Given the description of an element on the screen output the (x, y) to click on. 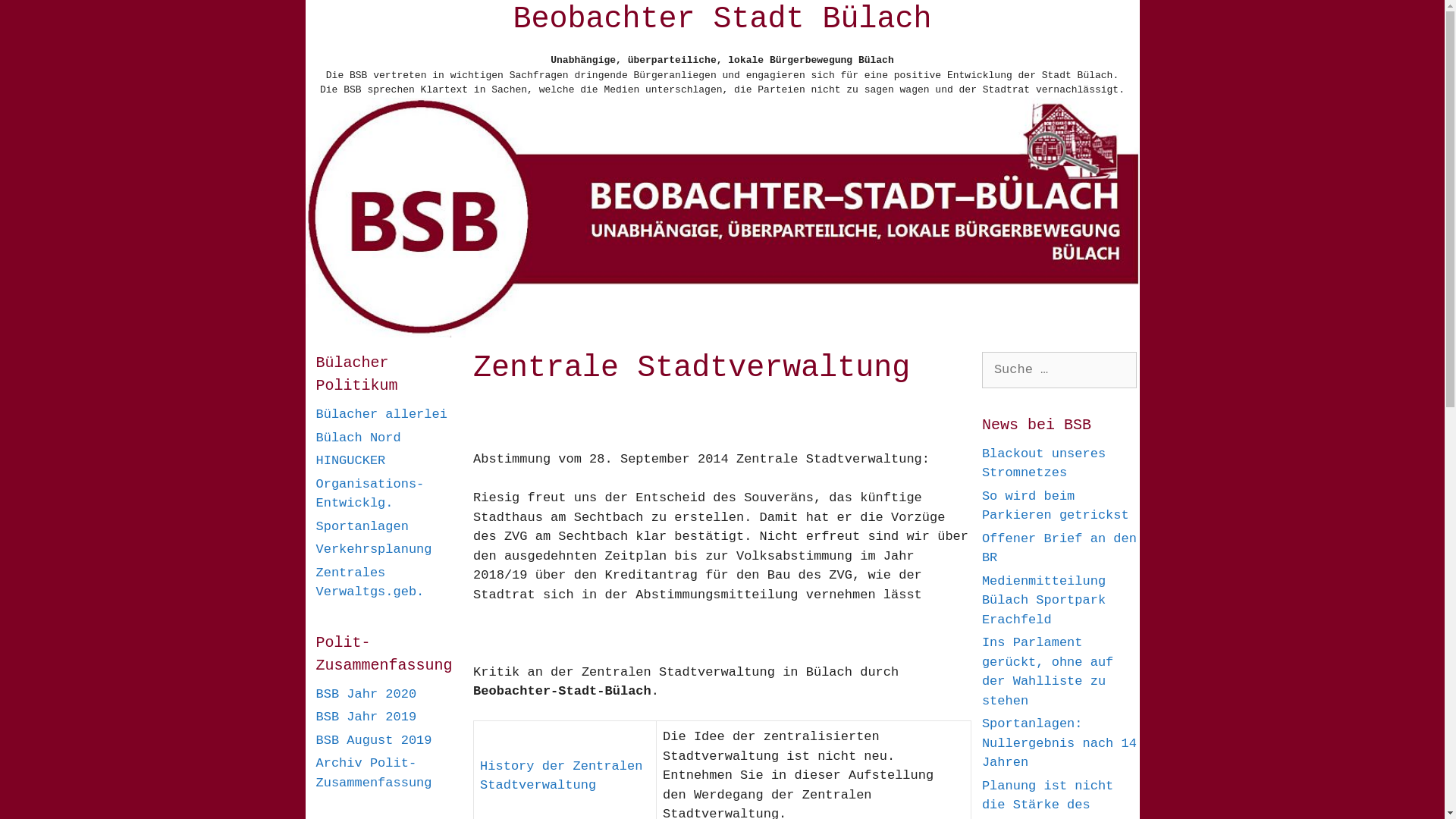
BSB August 2019 Element type: text (373, 740)
Sportanlagen Element type: text (361, 526)
So wird beim Parkieren getrickst Element type: text (1055, 506)
Archiv Polit-Zusammenfassung Element type: text (373, 773)
Organisations-Entwicklg. Element type: text (369, 493)
Suche nach: Element type: hover (1059, 369)
Suchen Element type: text (39, 18)
BSB Jahr 2020 Element type: text (365, 694)
HINGUCKER Element type: text (350, 460)
History der Zentralen Stadtverwaltung Element type: text (561, 776)
Sportanlagen: Nullergebnis nach 14 Jahren Element type: text (1059, 742)
Blackout unseres Stromnetzes Element type: text (1043, 463)
Offener Brief an den BR Element type: text (1059, 548)
BSB Jahr 2019 Element type: text (365, 716)
Zentrales Verwaltgs.geb. Element type: text (369, 582)
Verkehrsplanung Element type: text (373, 549)
